Given the description of an element on the screen output the (x, y) to click on. 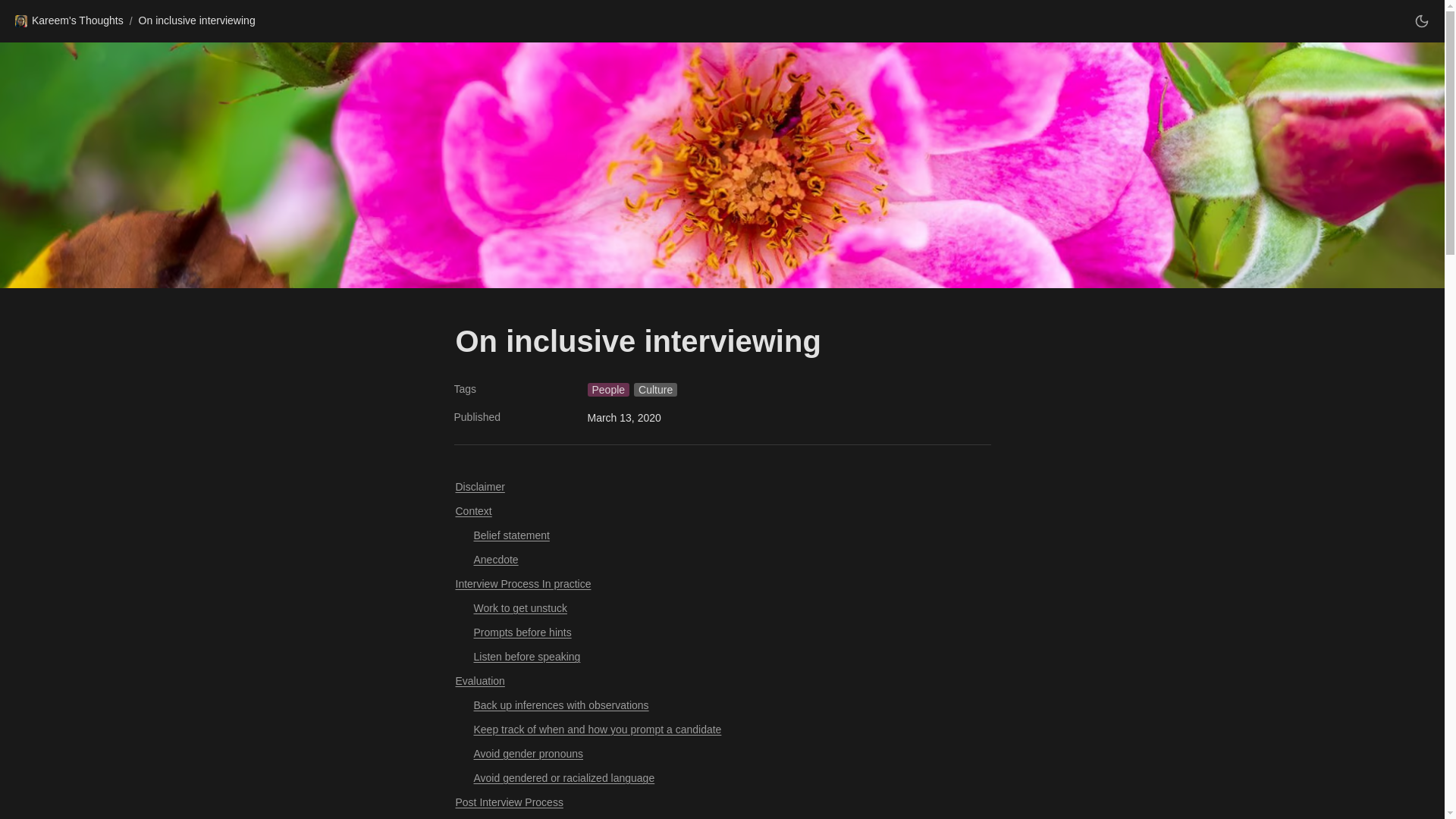
Prompts before hints (721, 630)
Avoid gender pronouns (721, 752)
Post Interview Process (721, 800)
Anecdote (721, 558)
On inclusive interviewing (196, 21)
Back up inferences with observations (721, 703)
Context (721, 509)
Avoid gendered or racialized language (721, 776)
Kareem's Thoughts (69, 21)
Belief statement (721, 533)
Interview Process In practice (721, 582)
Keep track of when and how you prompt a candidate (721, 727)
Work to get unstuck (721, 606)
Evaluation (721, 679)
